Given the description of an element on the screen output the (x, y) to click on. 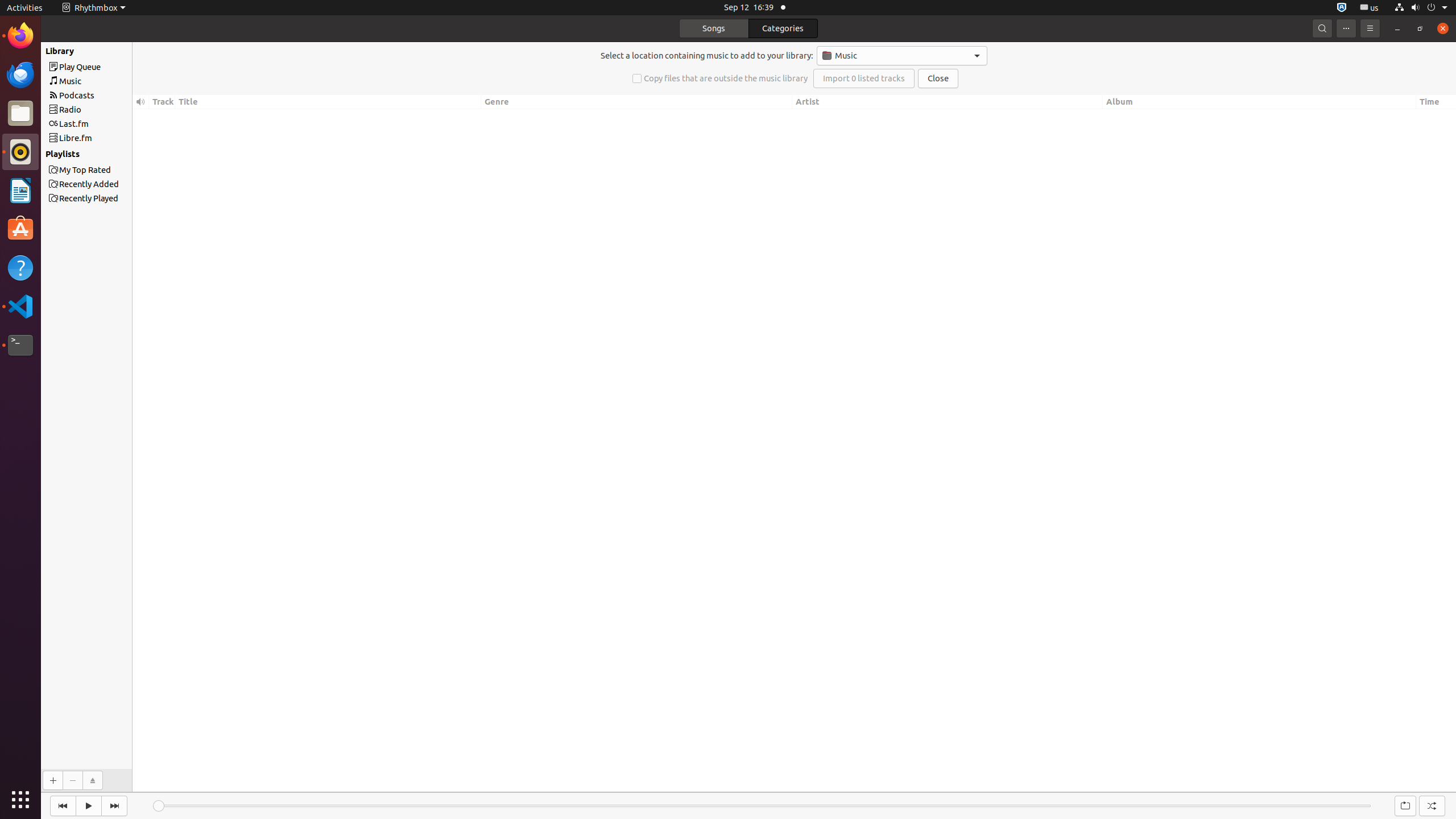
IsaHelpMain.desktop Element type: label (75, 170)
Select a location containing music to add to your library: Element type: label (706, 55)
Minimize Element type: push-button (1397, 27)
Playlists Element type: table-cell (100, 153)
